Given the description of an element on the screen output the (x, y) to click on. 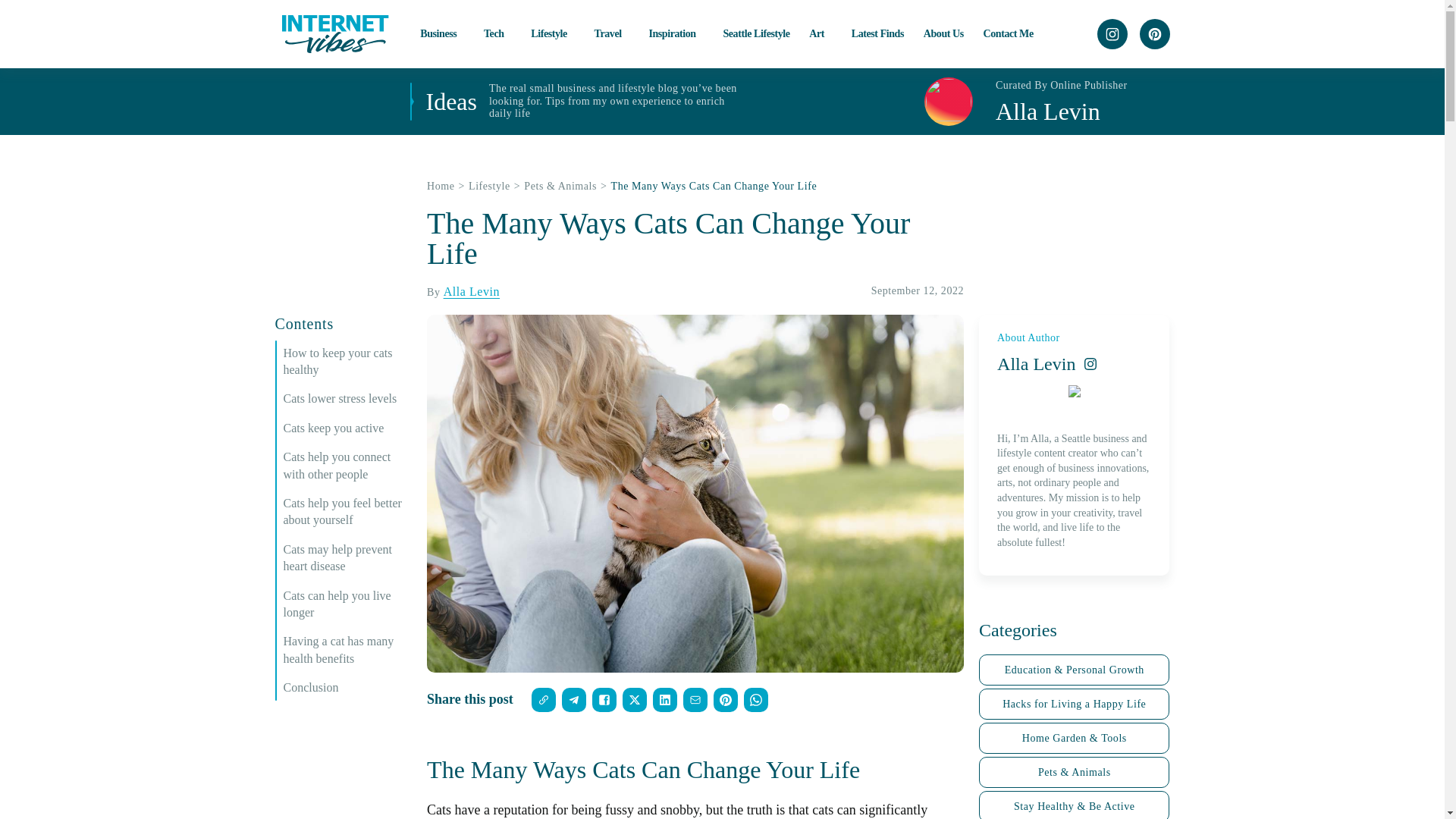
Cats can help you live longer (347, 603)
Cats help you connect with other people (347, 465)
Lifestyle (553, 33)
Having a cat has many health benefits (347, 650)
Conclusion (347, 687)
Cats help you feel better about yourself (347, 512)
Cats lower stress levels (347, 398)
Tech (497, 33)
Cats may help prevent heart disease (347, 558)
How to keep your cats healthy (347, 361)
